Given the description of an element on the screen output the (x, y) to click on. 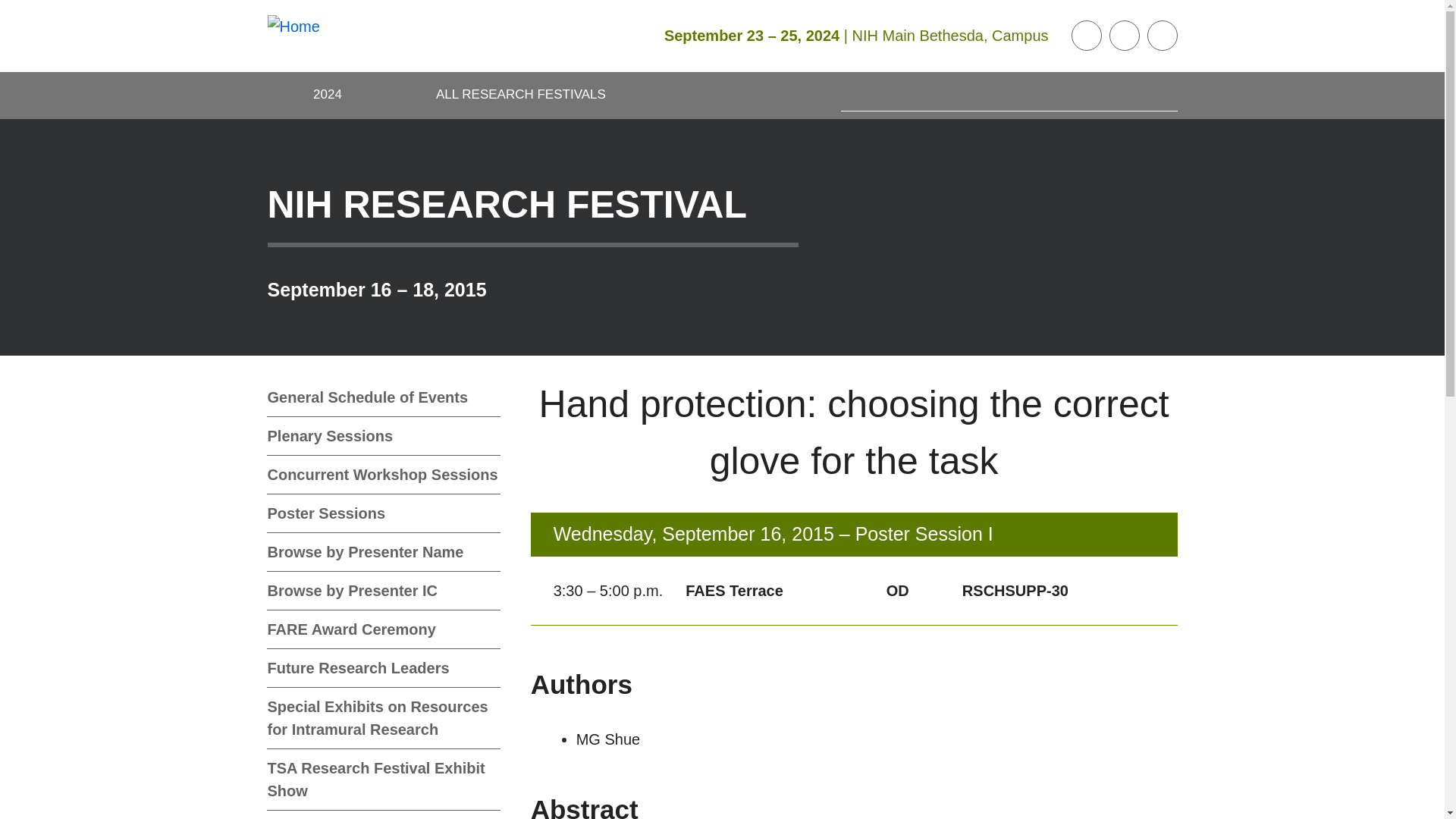
Skip to main content (11, 11)
2024 NIH Research Festival (327, 95)
2024 (327, 95)
